Given the description of an element on the screen output the (x, y) to click on. 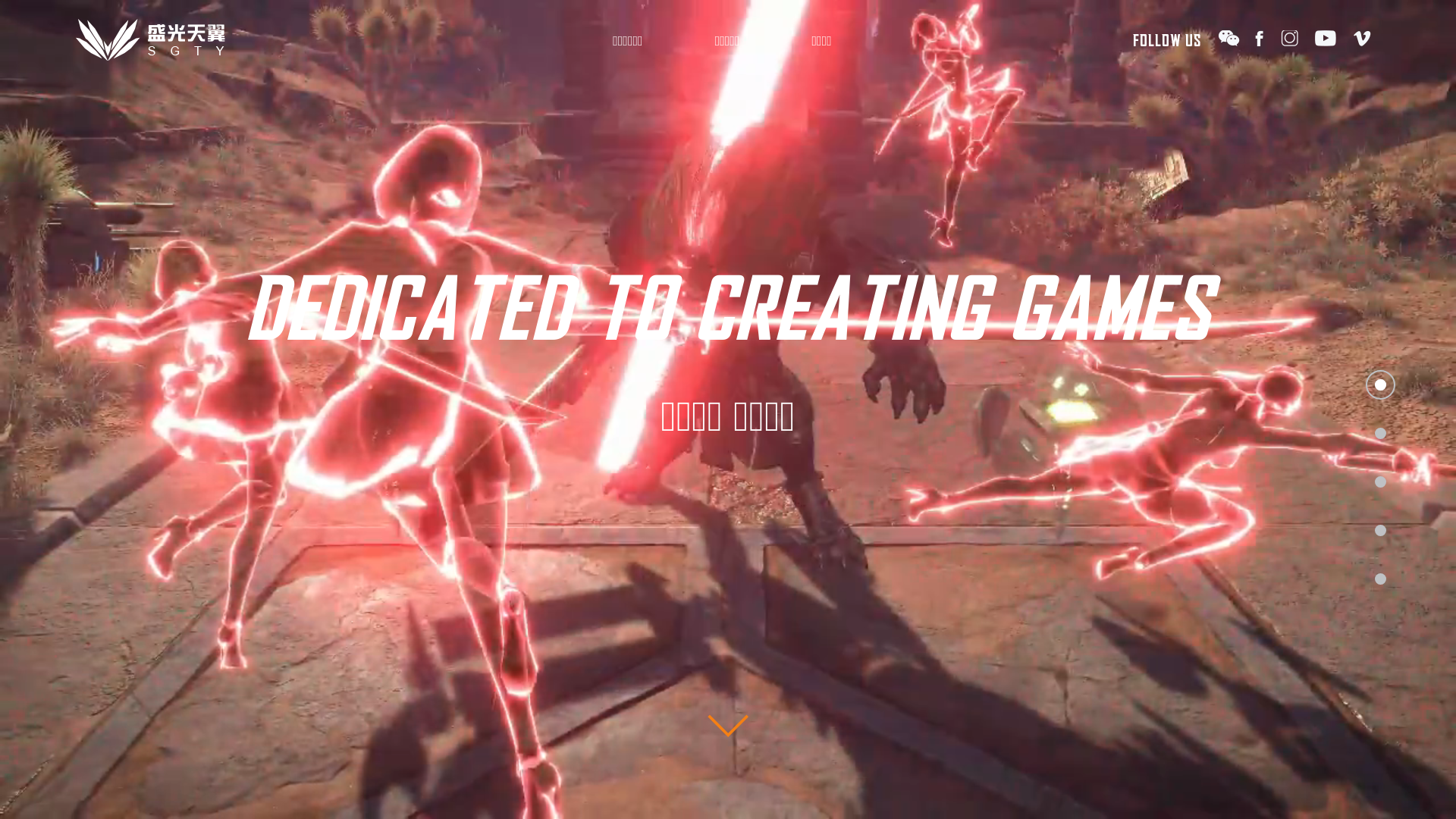
3 Element type: text (1380, 481)
1 Element type: text (1380, 384)
5 Element type: text (1380, 578)
2 Element type: text (1380, 433)
4 Element type: text (1380, 530)
